Given the description of an element on the screen output the (x, y) to click on. 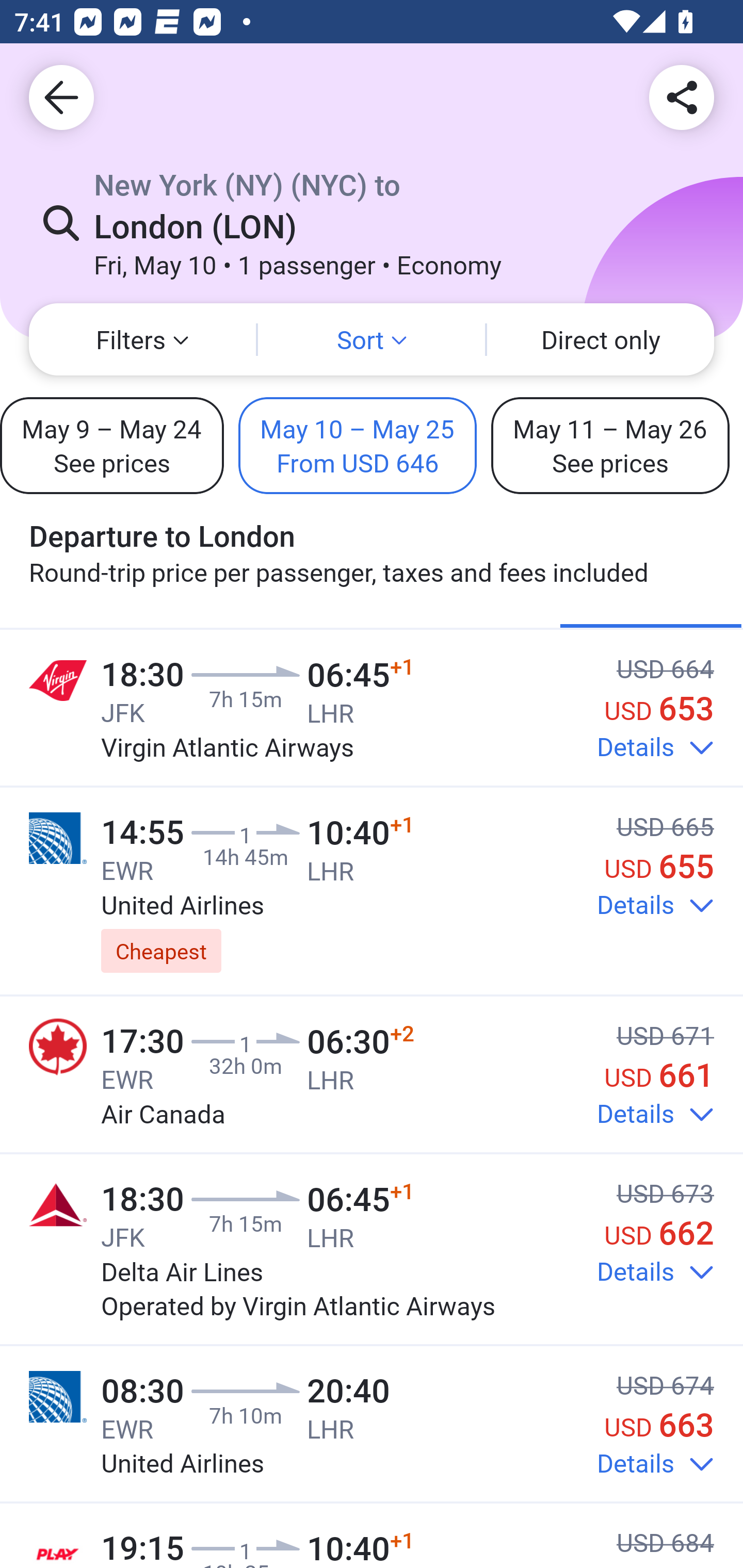
Filters (141, 339)
Sort (371, 339)
Direct only (600, 339)
May 9 – May 24 See prices (111, 444)
May 10 – May 25 From USD 646 (357, 444)
May 11 – May 26 See prices (610, 444)
